Given the description of an element on the screen output the (x, y) to click on. 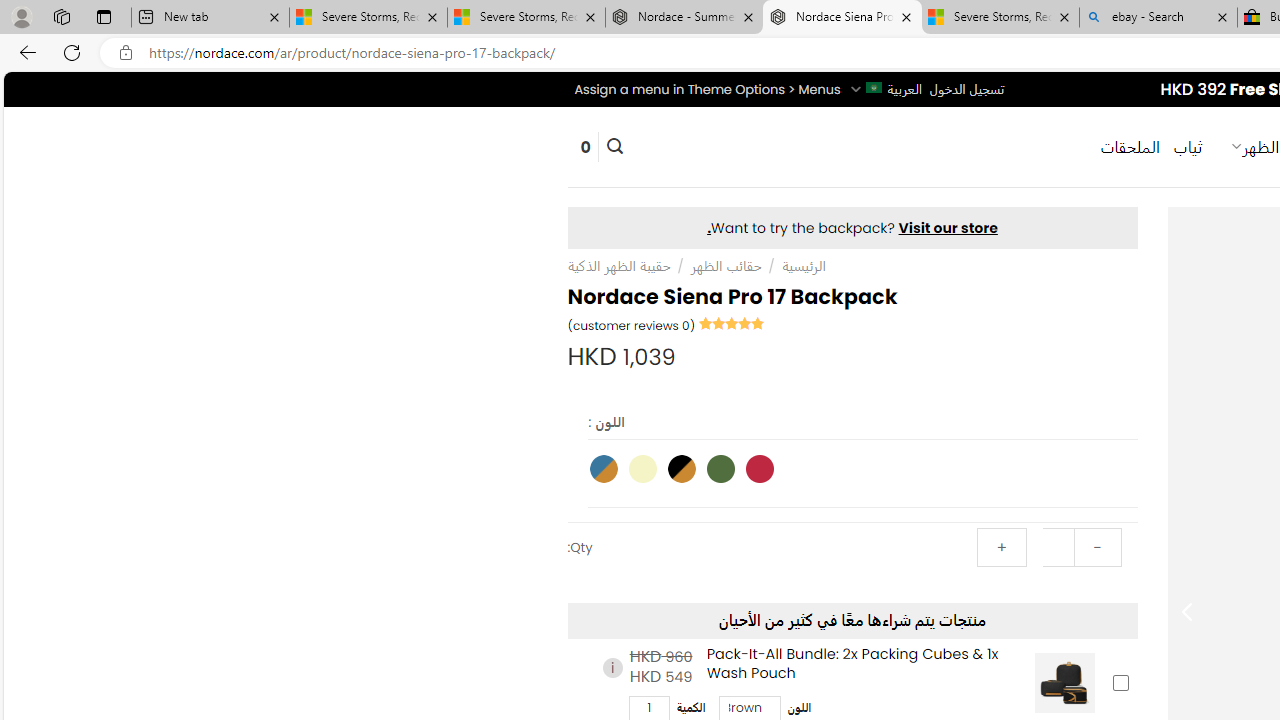
Pack-It-All Bundle: 2x Packing Cubes & 1x Wash Pouch (1064, 682)
Add this product to cart (1120, 682)
- (1097, 547)
i (612, 668)
Assign a menu in Theme Options > Menus (706, 89)
